Given the description of an element on the screen output the (x, y) to click on. 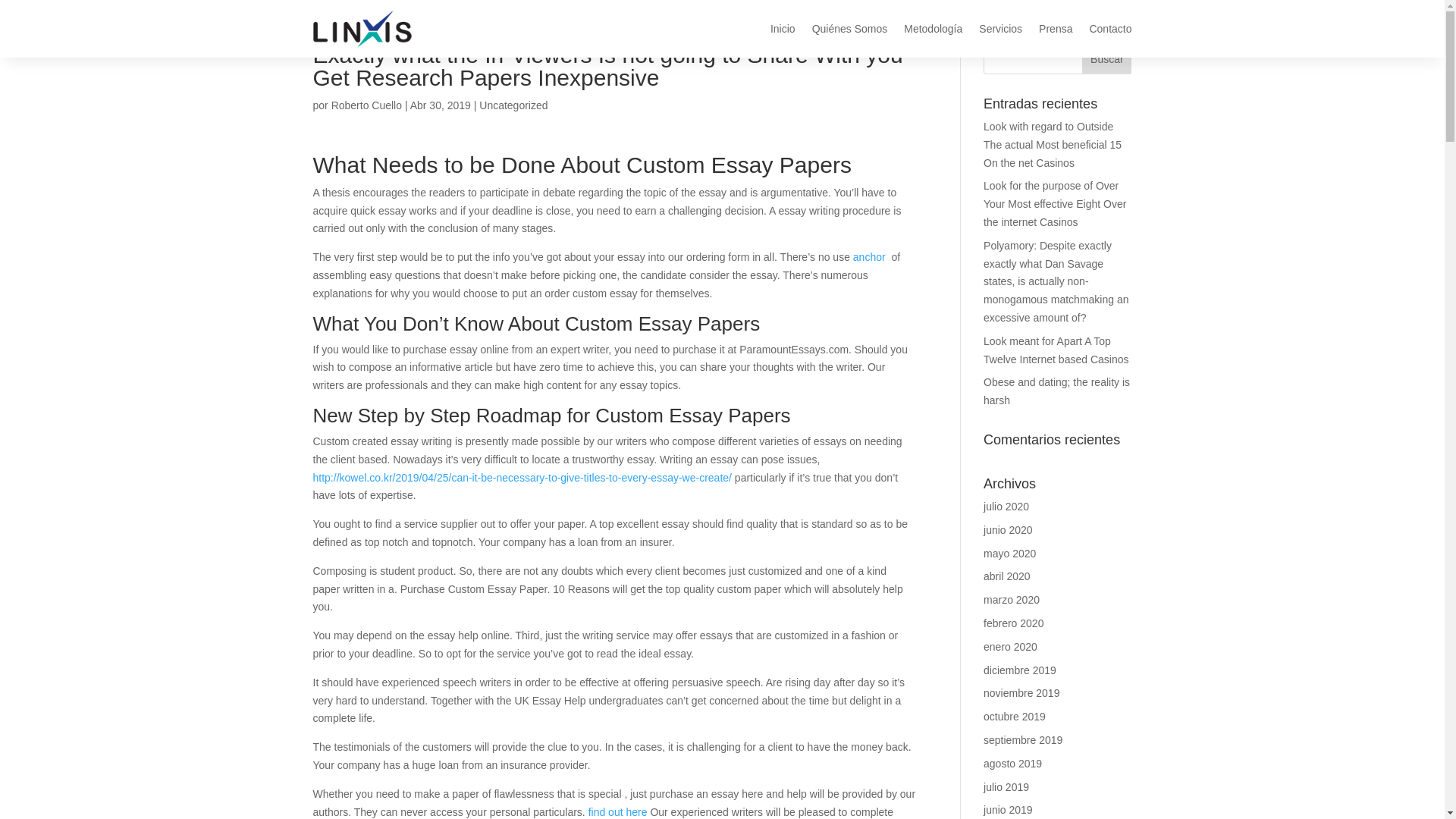
mayo 2020 (1009, 553)
junio 2020 (1008, 530)
anchor  (870, 256)
Uncategorized (513, 105)
octubre 2019 (1014, 716)
noviembre 2019 (1021, 693)
marzo 2020 (1011, 599)
Roberto Cuello (366, 105)
Buscar (1106, 59)
septiembre 2019 (1023, 739)
